Given the description of an element on the screen output the (x, y) to click on. 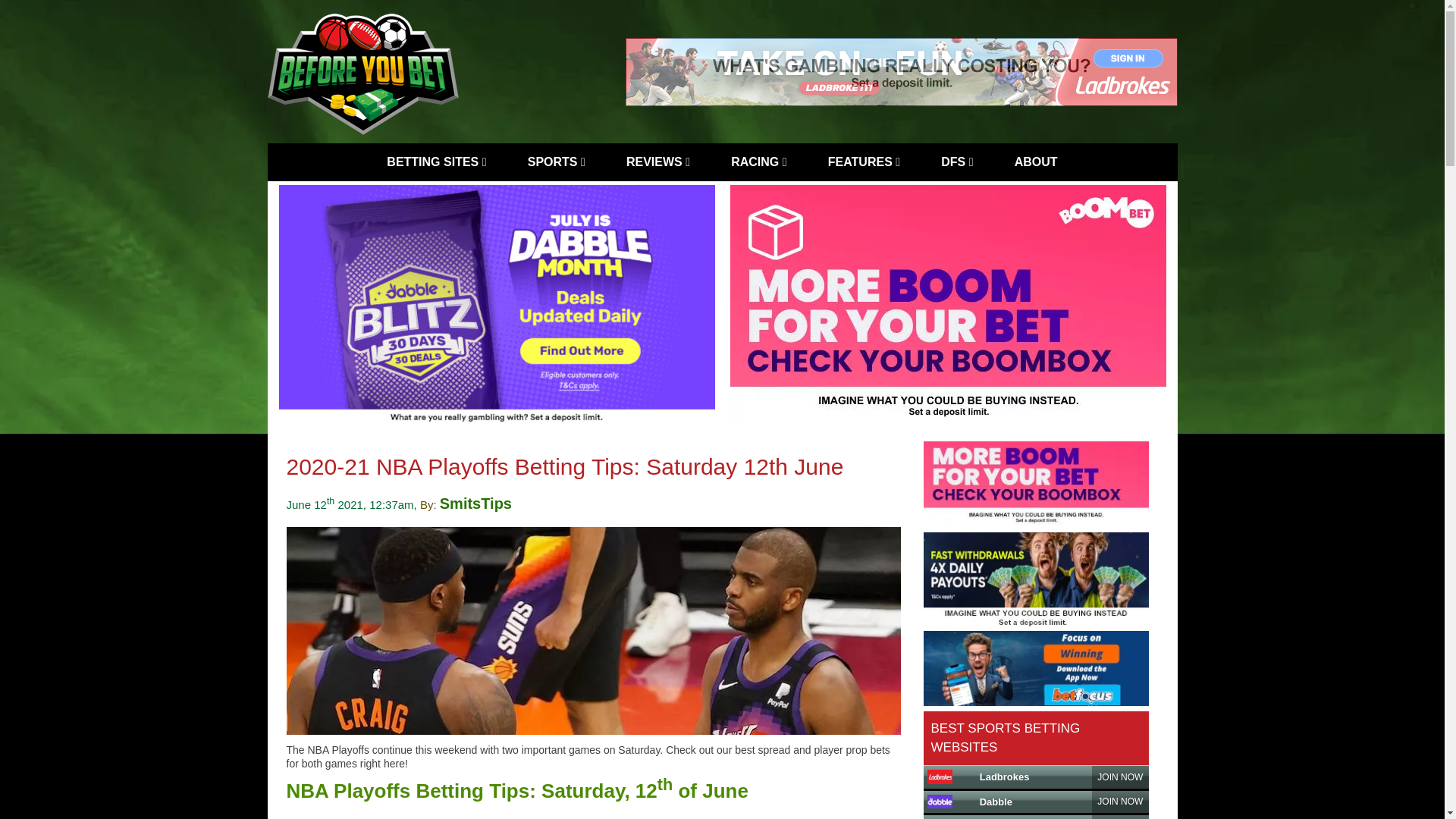
Sports Betting Sites (435, 161)
top banner (900, 71)
SPORTS (555, 161)
RACING (758, 161)
REVIEWS (657, 161)
Sports Betting Tips (555, 161)
BETTING SITES (435, 161)
Reviews (657, 161)
FEATURES (864, 161)
